Given the description of an element on the screen output the (x, y) to click on. 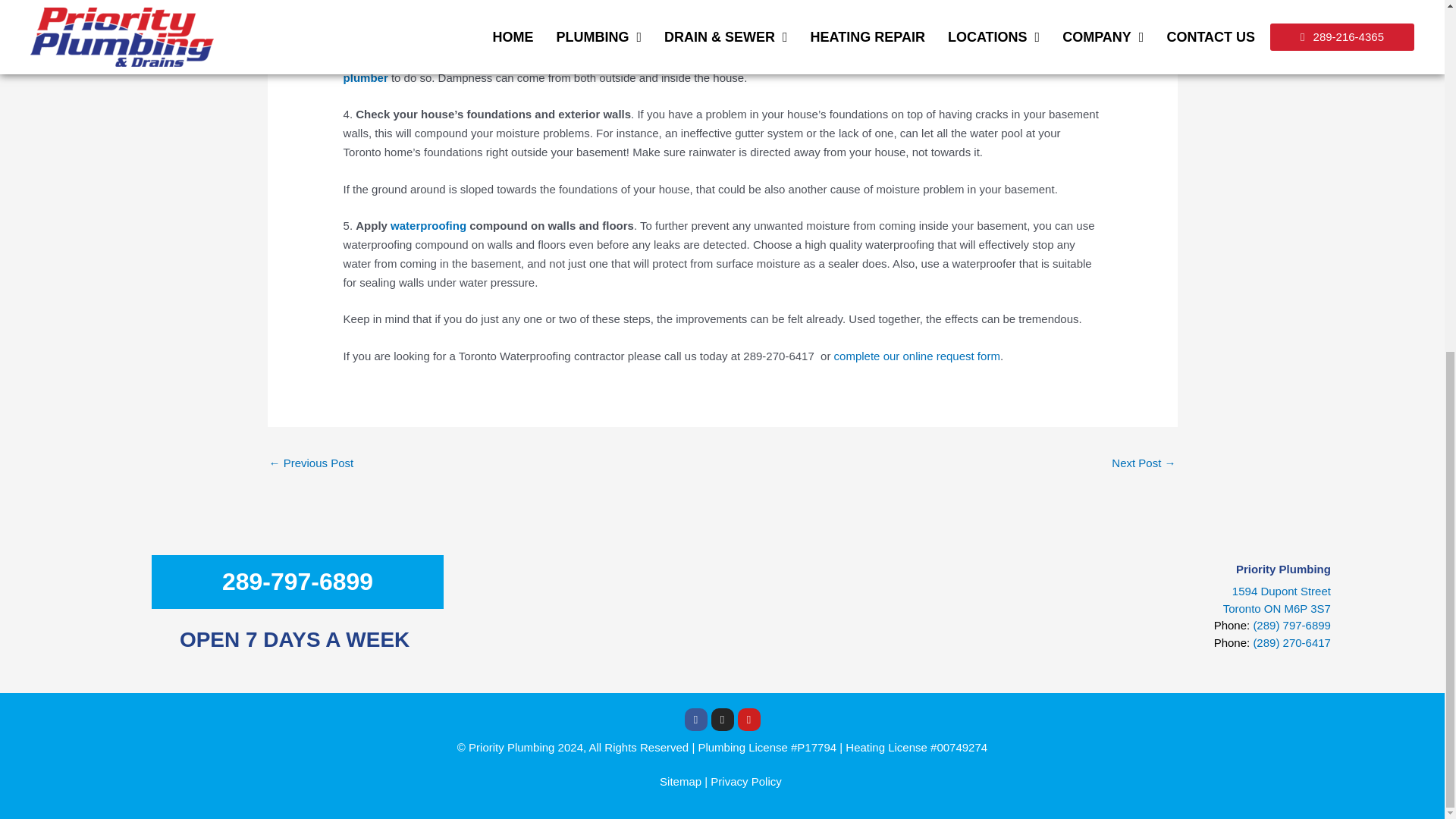
Pick the Perfect Plumber in Toronto (1143, 464)
Lights! Cameras! Action! in Toronto (310, 464)
